Given the description of an element on the screen output the (x, y) to click on. 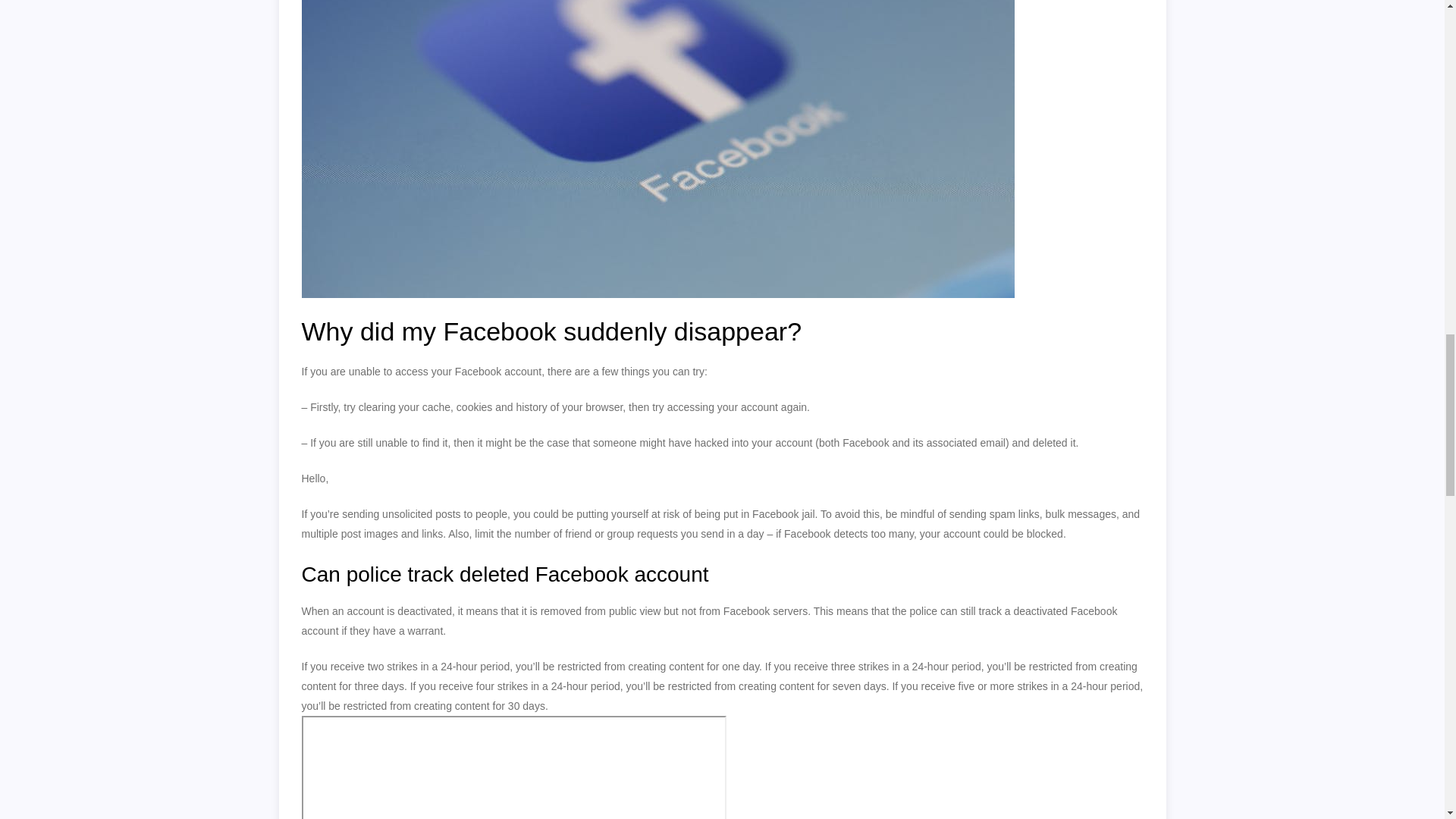
YouTube video player (513, 767)
